Given the description of an element on the screen output the (x, y) to click on. 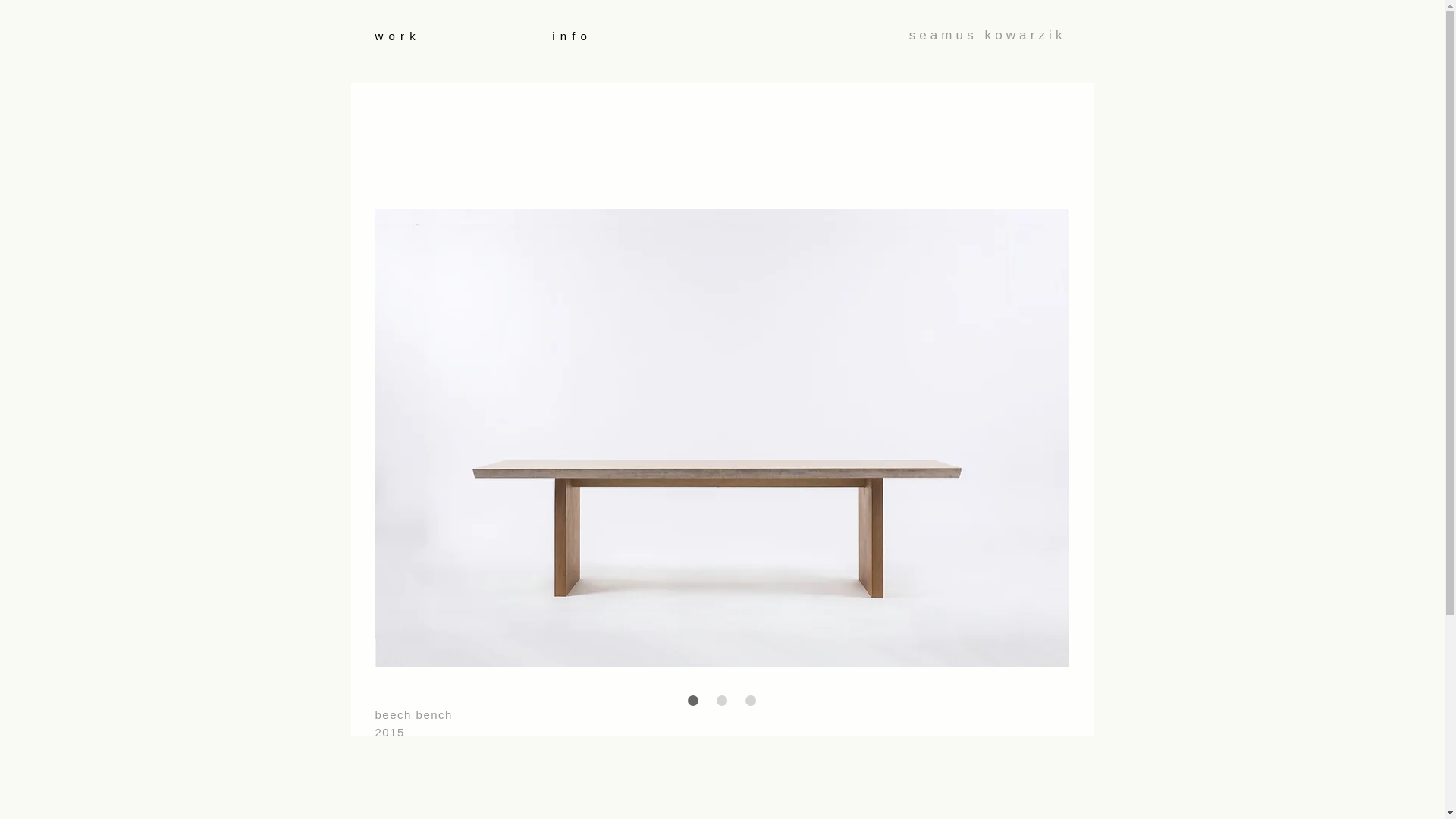
seamus kowarzik (986, 34)
